Given the description of an element on the screen output the (x, y) to click on. 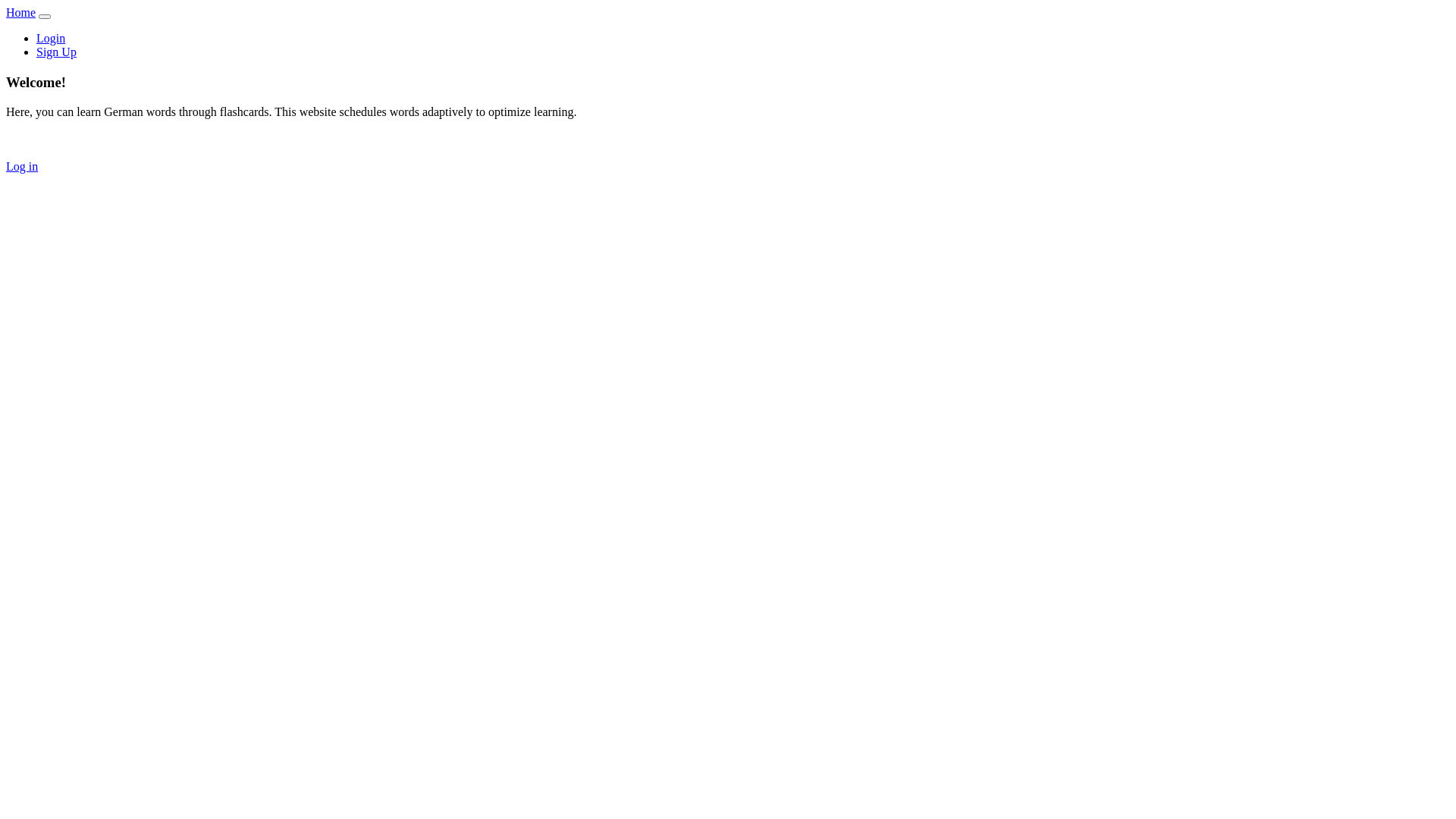
Sign Up Element type: text (56, 51)
Login Element type: text (50, 37)
Home Element type: text (20, 12)
Log in Element type: text (21, 166)
